Given the description of an element on the screen output the (x, y) to click on. 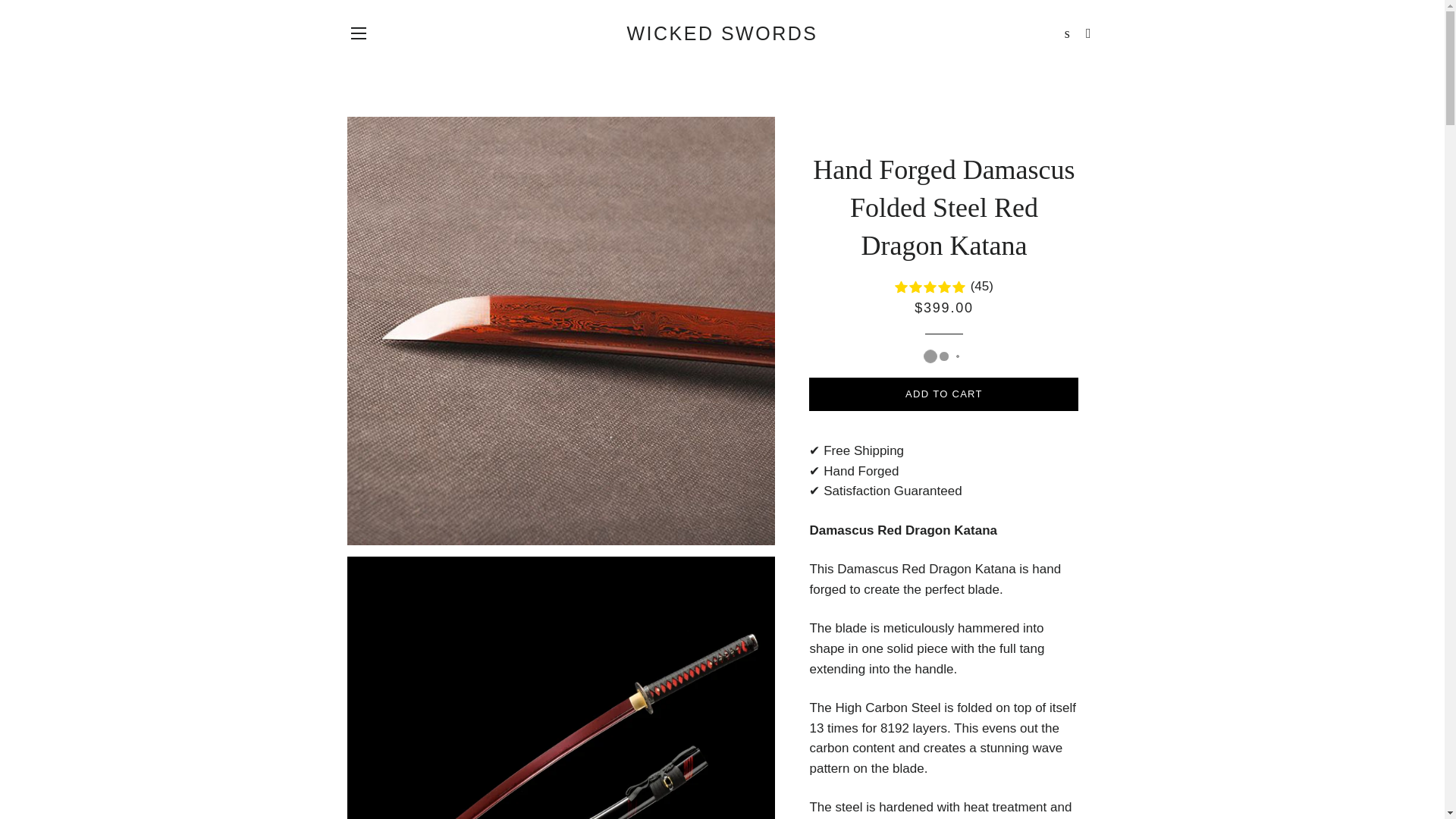
SITE NAVIGATION (358, 33)
ADD TO CART (943, 394)
WICKED SWORDS (721, 33)
